Given the description of an element on the screen output the (x, y) to click on. 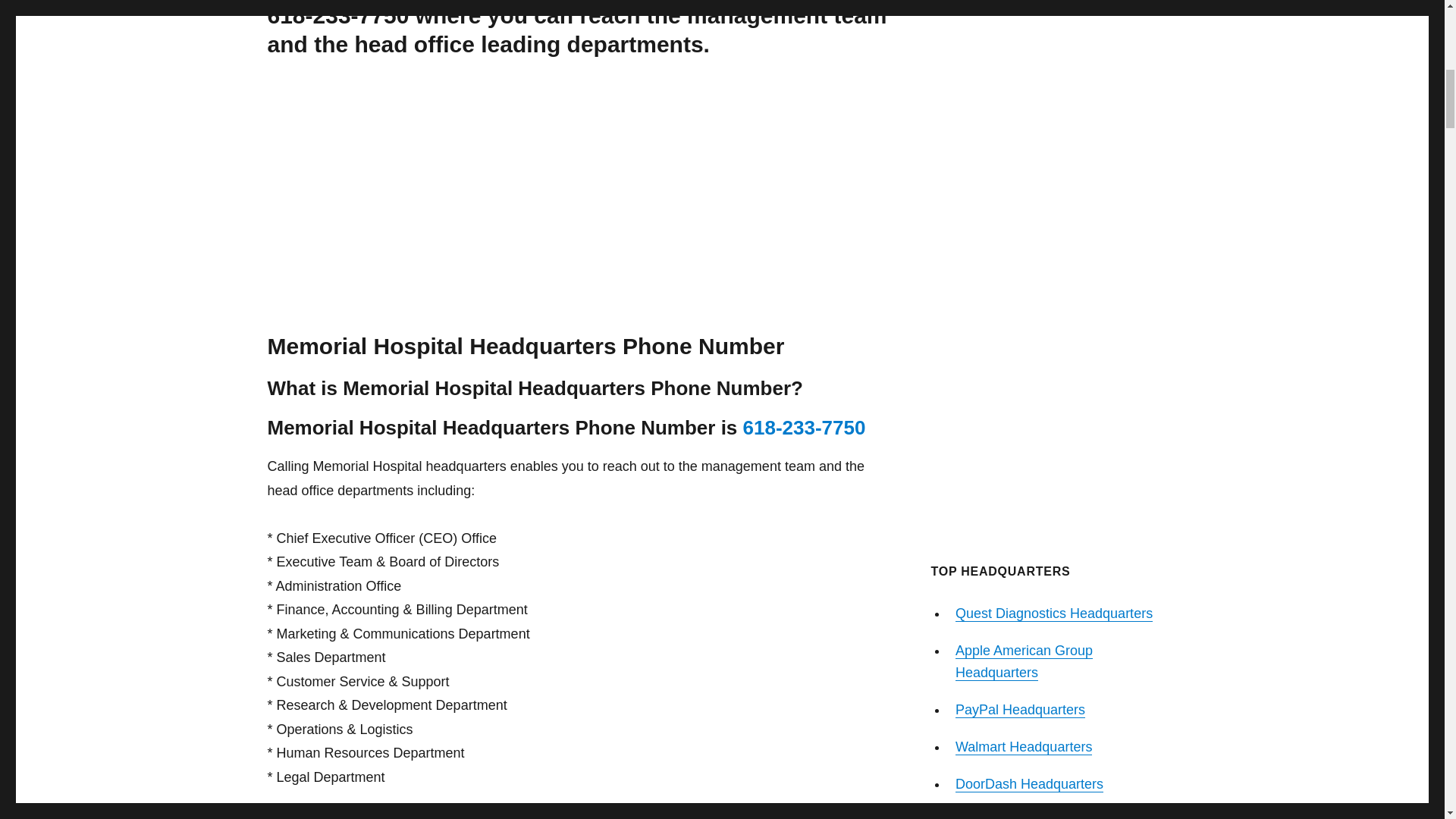
Walmart Headquarters (1023, 746)
DoorDash Headquarters (1029, 783)
618-233-7750 (804, 427)
PayPal Headquarters (1019, 709)
Quest Diagnostics Headquarters (1054, 613)
Dominos Headquarters (1025, 816)
Apple American Group Headquarters (1024, 661)
